Given the description of an element on the screen output the (x, y) to click on. 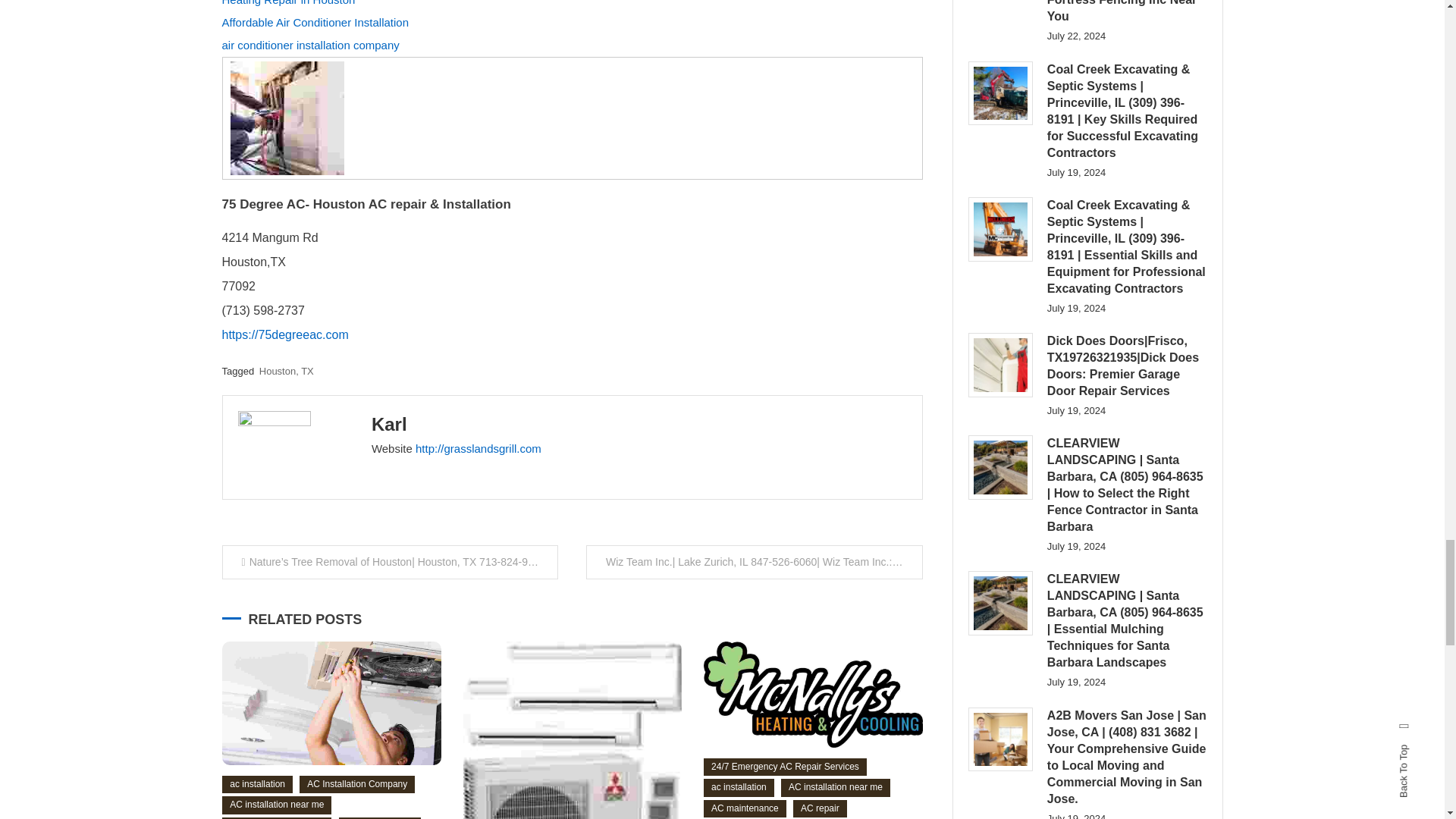
Posts by Karl (389, 424)
